Given the description of an element on the screen output the (x, y) to click on. 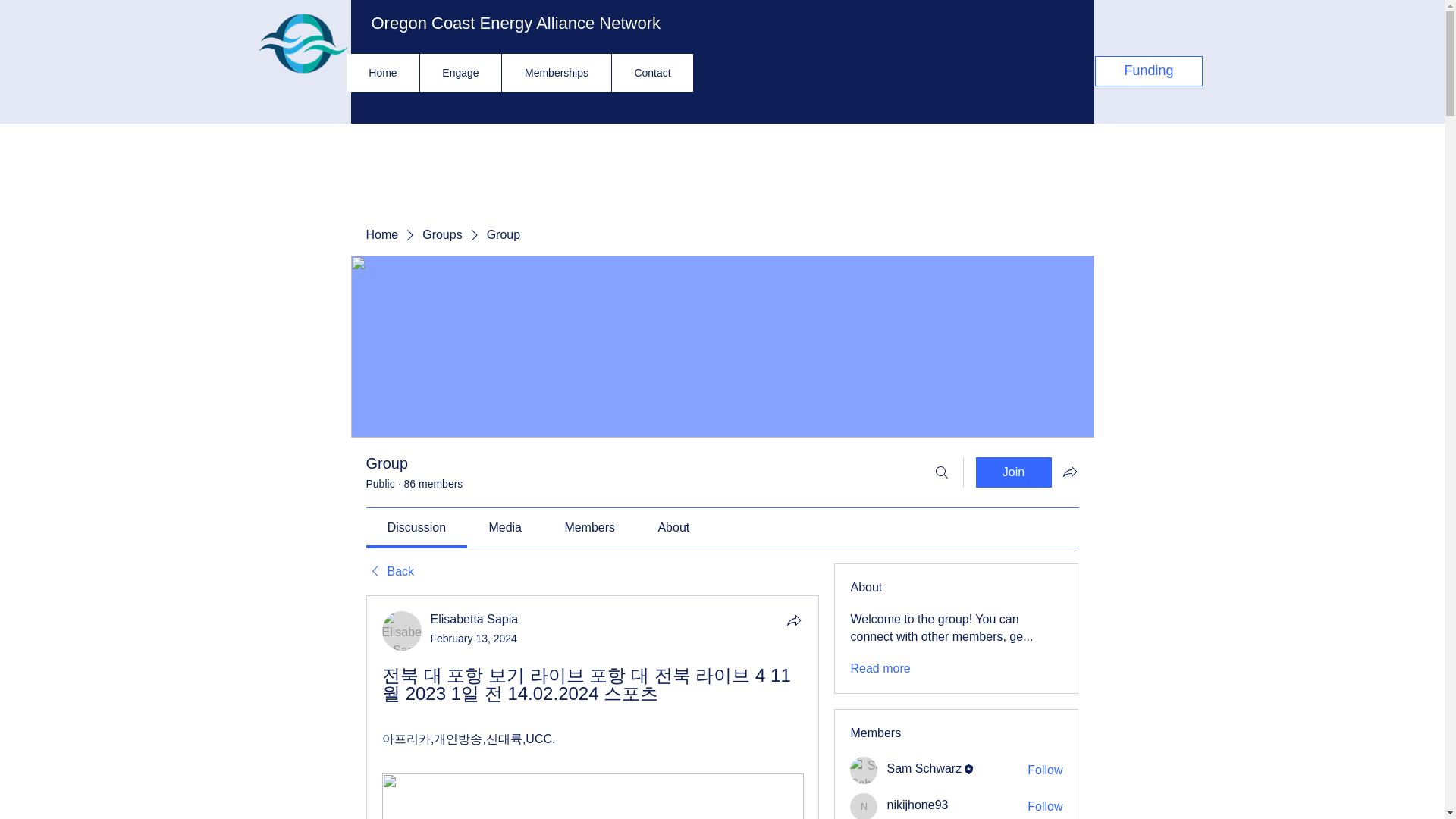
Sam Schwarz (863, 769)
Home (382, 72)
February 13, 2024 (473, 638)
Sam Schwarz (923, 768)
Home (381, 234)
Follow (1044, 806)
Groups (441, 234)
Elisabetta Sapia (401, 630)
Oregon Coast Energy Alliance Network (516, 22)
Join (1013, 472)
Follow (1044, 770)
Funding (1148, 71)
Back (389, 571)
Contact (652, 72)
Memberships (555, 72)
